Given the description of an element on the screen output the (x, y) to click on. 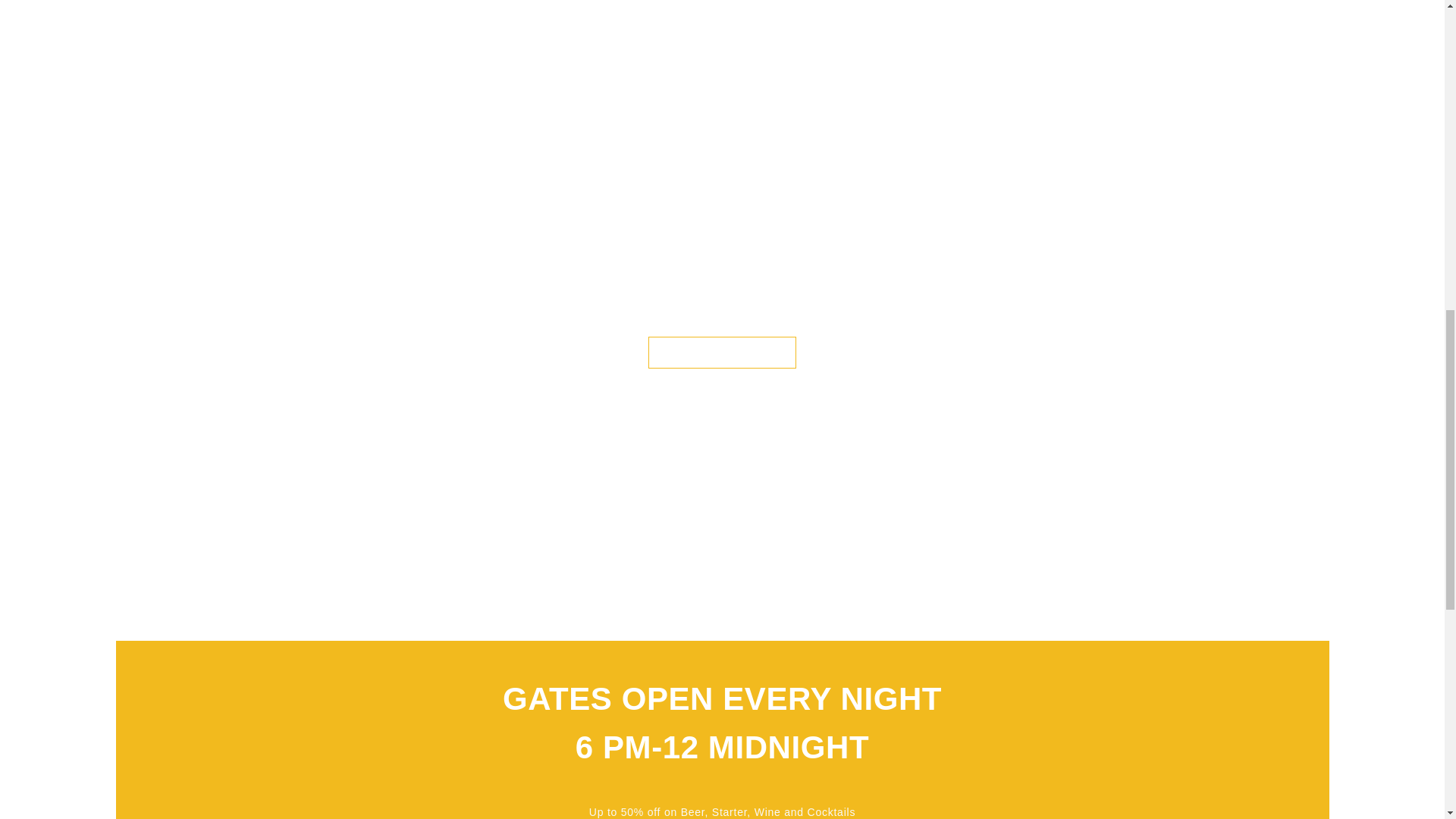
EXPLORE THE MENU (721, 352)
